Given the description of an element on the screen output the (x, y) to click on. 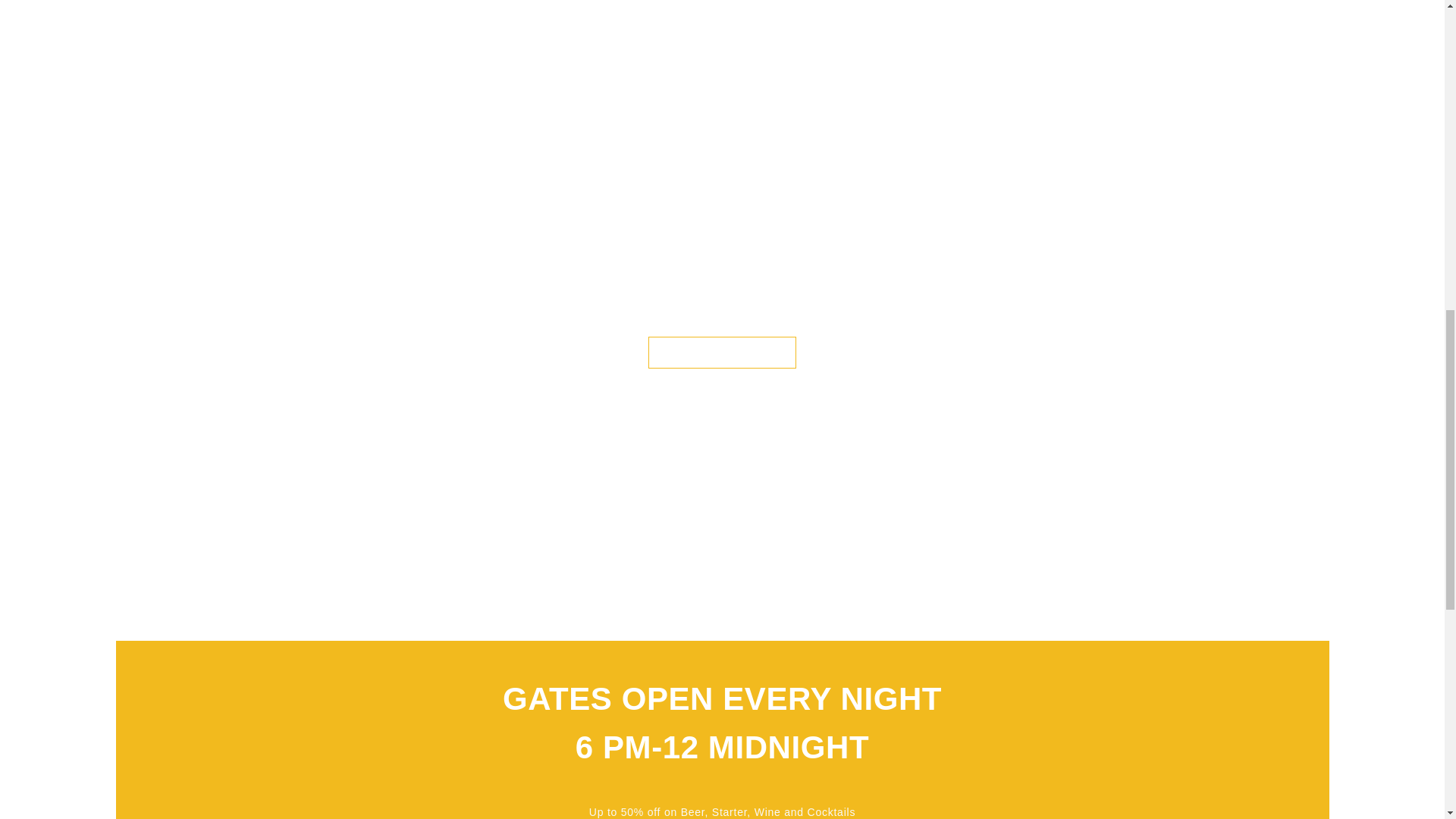
EXPLORE THE MENU (721, 352)
